Given the description of an element on the screen output the (x, y) to click on. 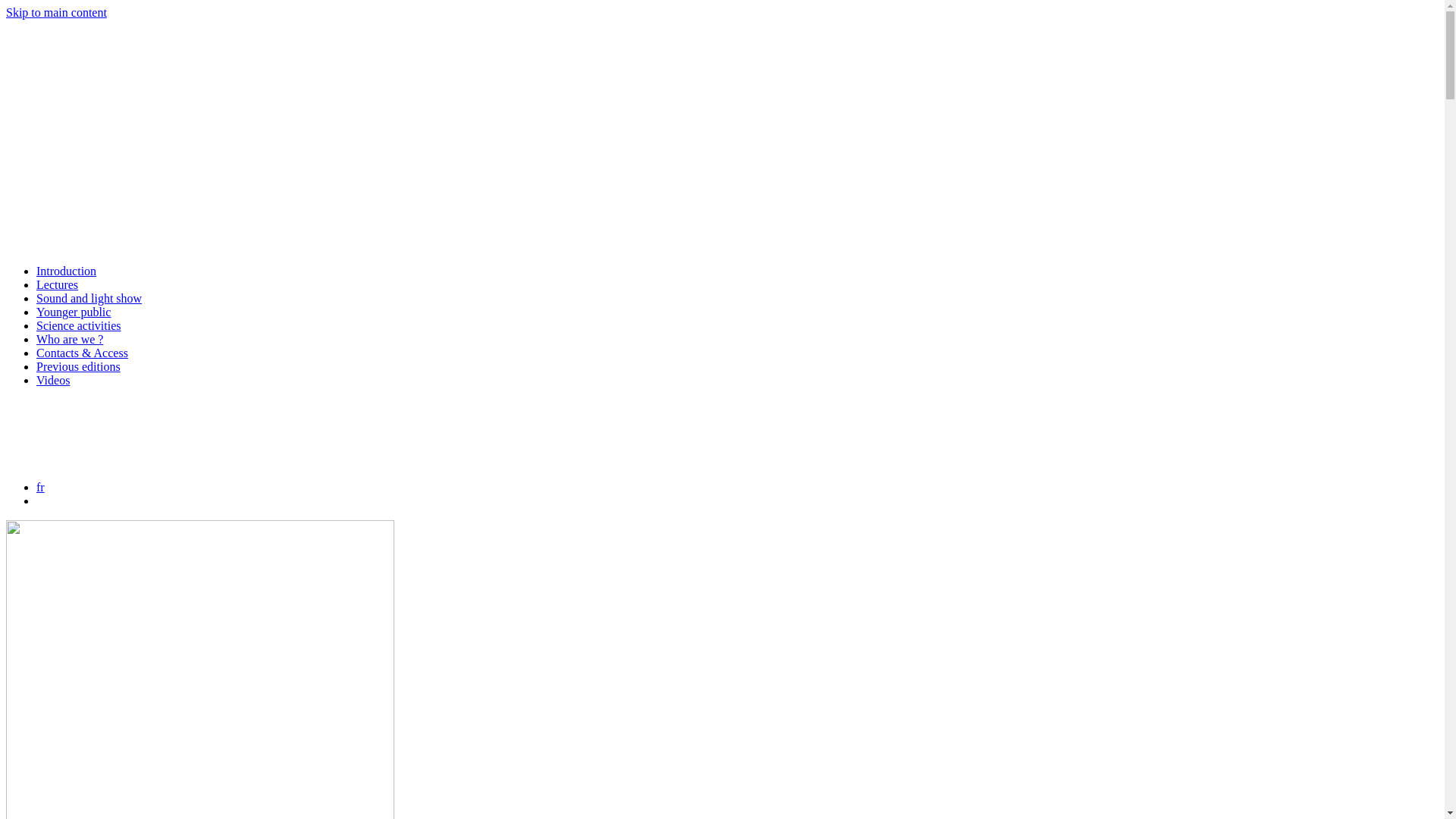
fr Element type: text (40, 486)
Lectures Element type: text (57, 284)
Previous editions Element type: text (78, 366)
Introduction Element type: text (66, 270)
Contacts & Access Element type: text (82, 352)
Younger public Element type: text (73, 311)
Videos Element type: text (52, 379)
Sound and light show Element type: text (88, 297)
Skip to main content Element type: text (56, 12)
Science activities Element type: text (78, 325)
Who are we ? Element type: text (69, 338)
